Given the description of an element on the screen output the (x, y) to click on. 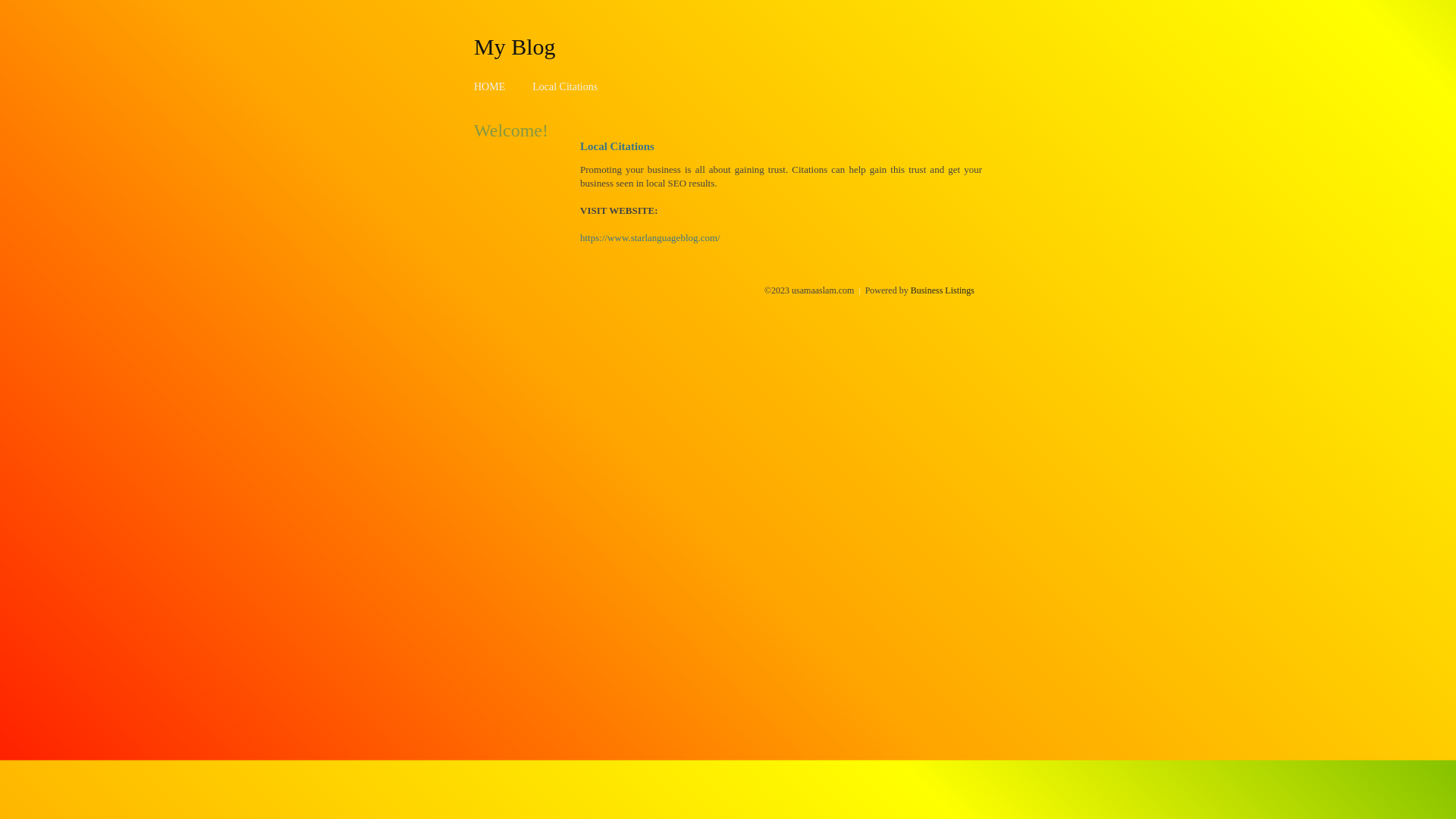
https://www.starlanguageblog.com/ Element type: text (650, 237)
Business Listings Element type: text (942, 290)
My Blog Element type: text (514, 46)
Local Citations Element type: text (564, 86)
HOME Element type: text (489, 86)
